Given the description of an element on the screen output the (x, y) to click on. 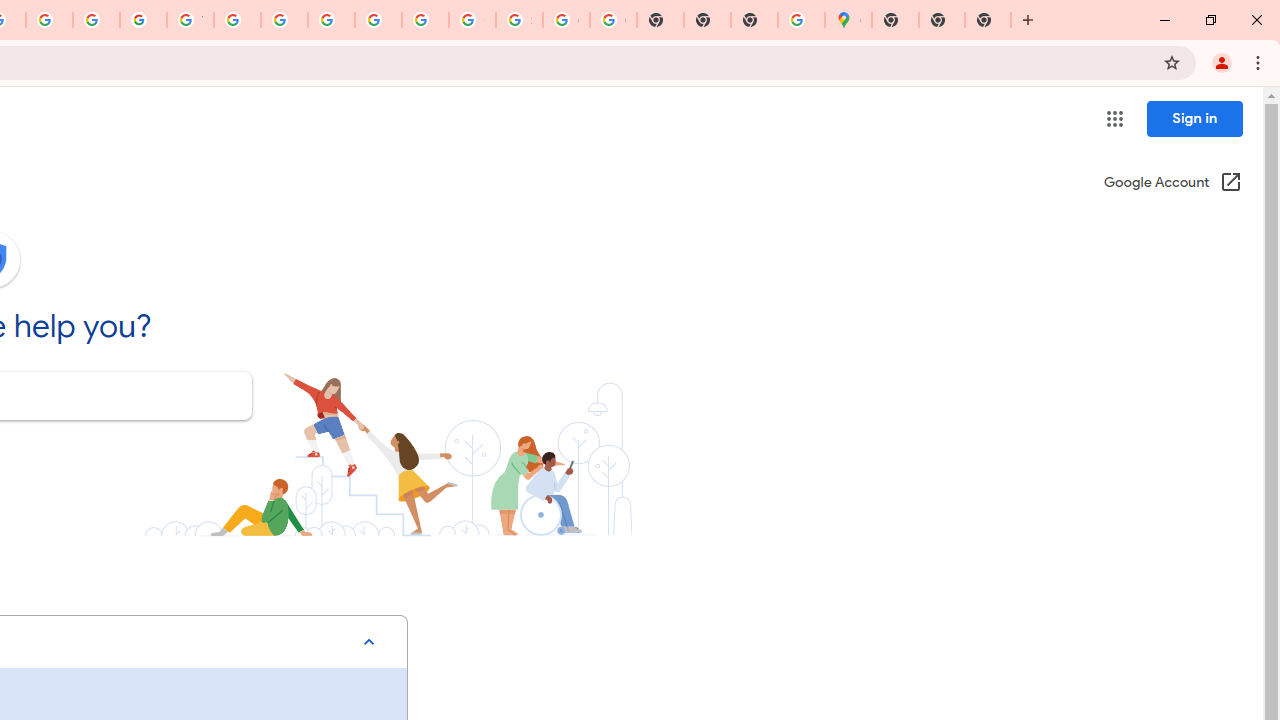
New Tab (895, 20)
Privacy Help Center - Policies Help (48, 20)
Google Account (Open in a new window) (1172, 183)
New Tab (754, 20)
